Given the description of an element on the screen output the (x, y) to click on. 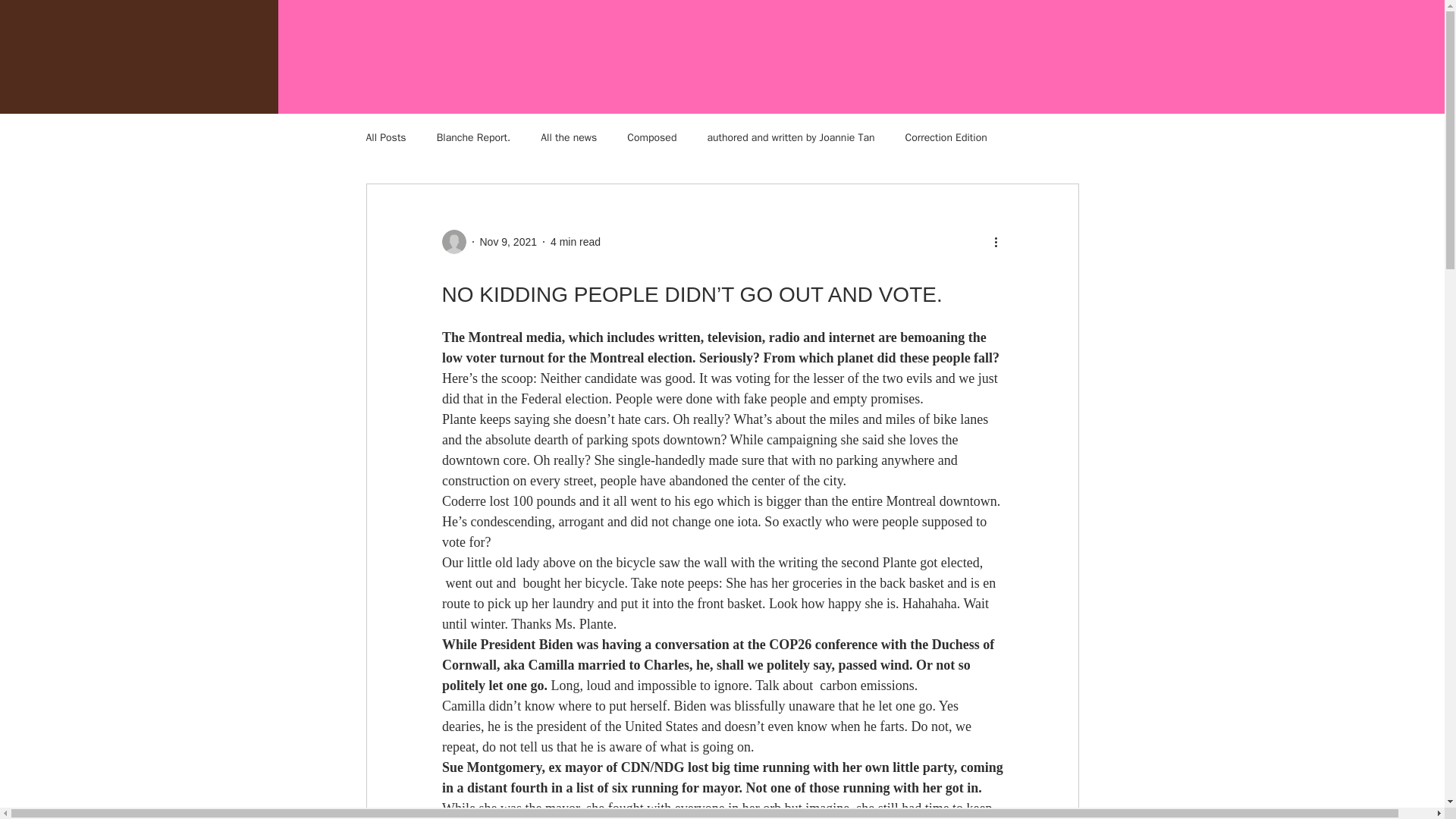
Blanche Report. (473, 137)
All Posts (385, 137)
Composed (652, 137)
Correction Edition (946, 137)
4 min read (574, 241)
Nov 9, 2021 (508, 241)
All the news (568, 137)
authored and written by Joannie Tan (790, 137)
